Given the description of an element on the screen output the (x, y) to click on. 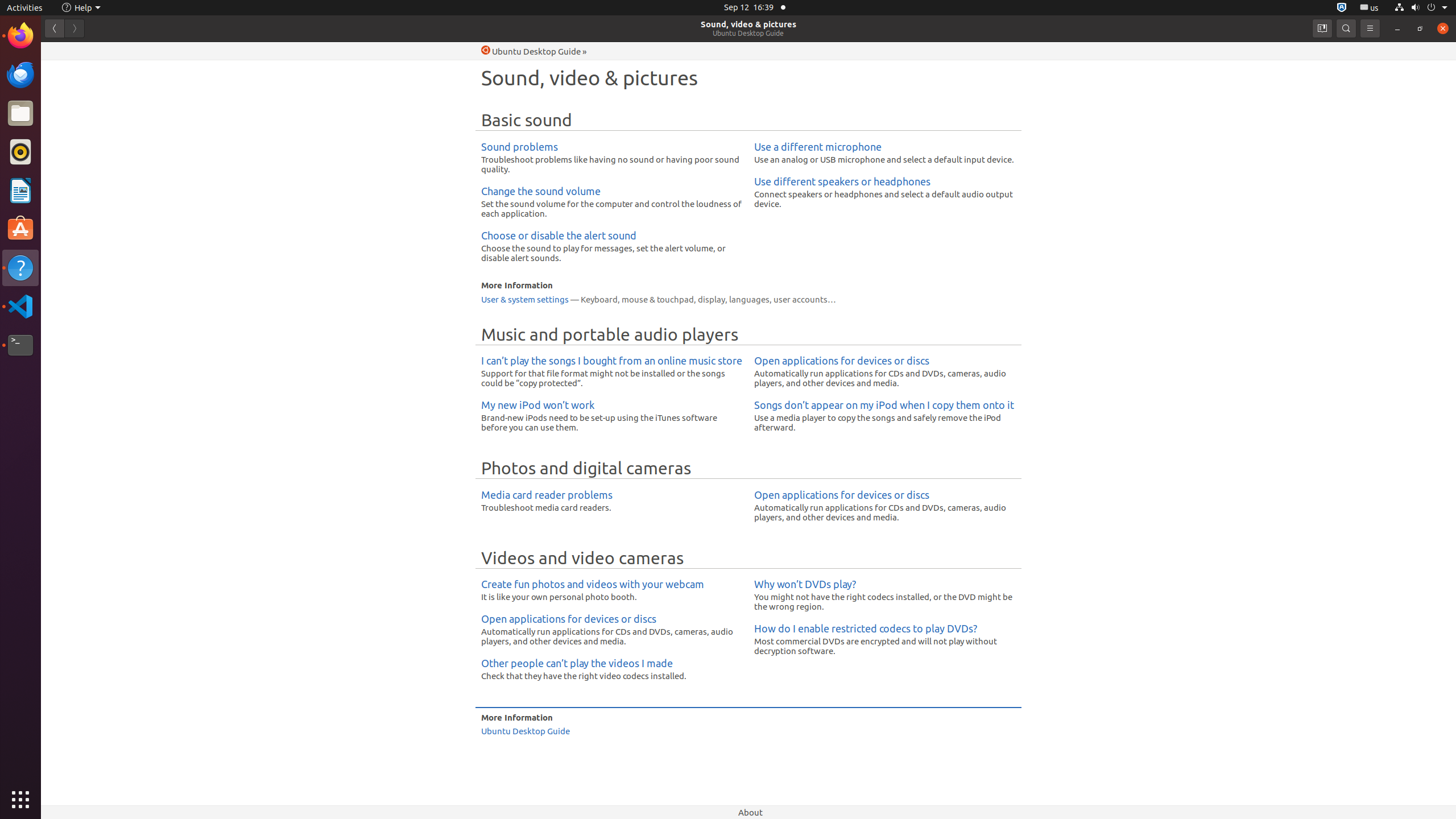
— , , , , … Element type: list-item (748, 299)
How do I enable restricted codecs to play DVDs? Most commercial DVDs are encrypted and will not play without decryption software. Element type: link (884, 639)
IsaHelpMain.desktop Element type: label (75, 170)
li.txt Element type: label (146, 50)
